Given the description of an element on the screen output the (x, y) to click on. 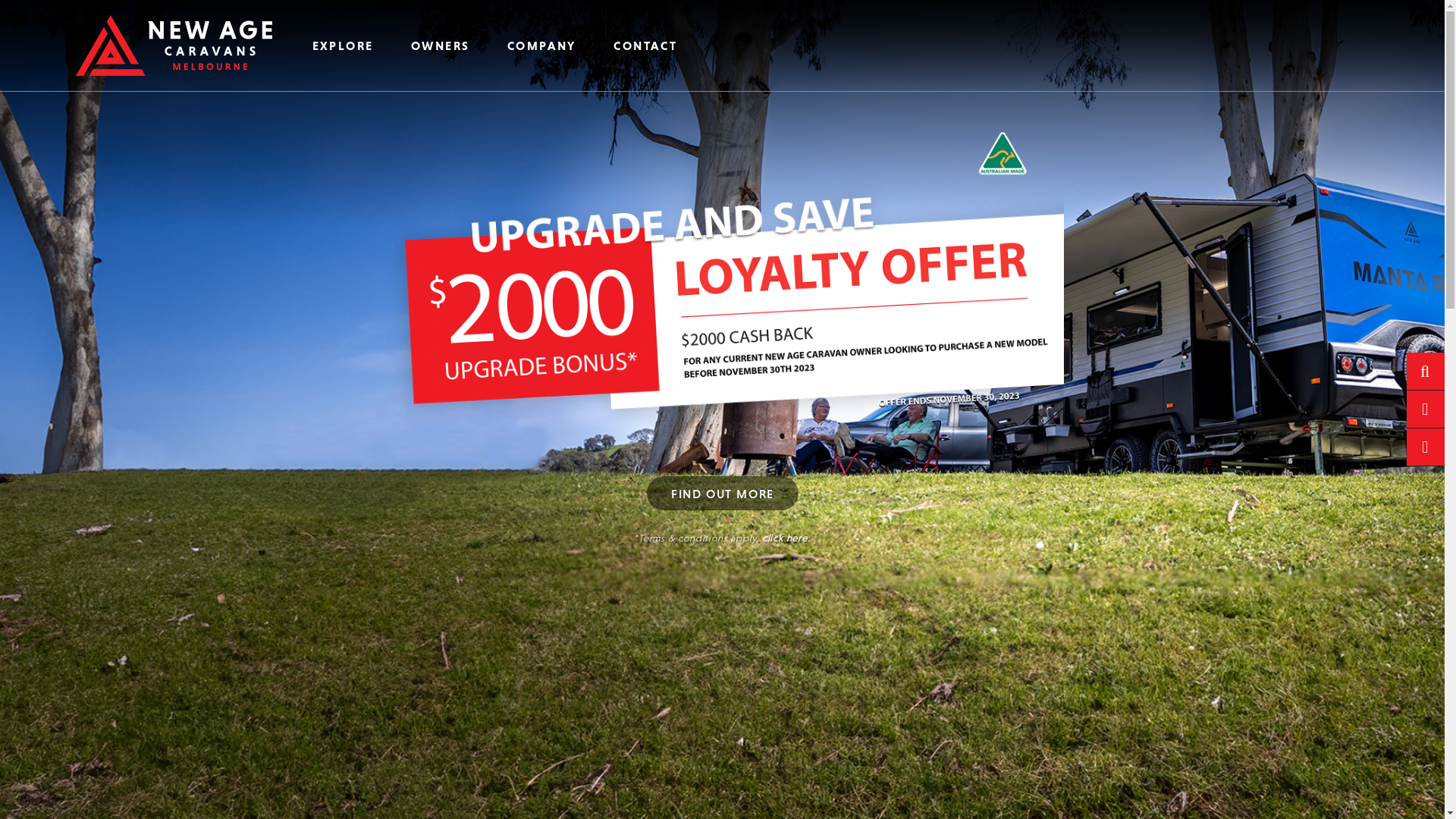
click here. Element type: text (786, 537)
OWNERS Element type: text (440, 45)
FIND OUT MORE Element type: text (721, 493)
EXPLORE Element type: text (342, 45)
COMPANY Element type: text (541, 45)
CONTACT Element type: text (645, 45)
